Given the description of an element on the screen output the (x, y) to click on. 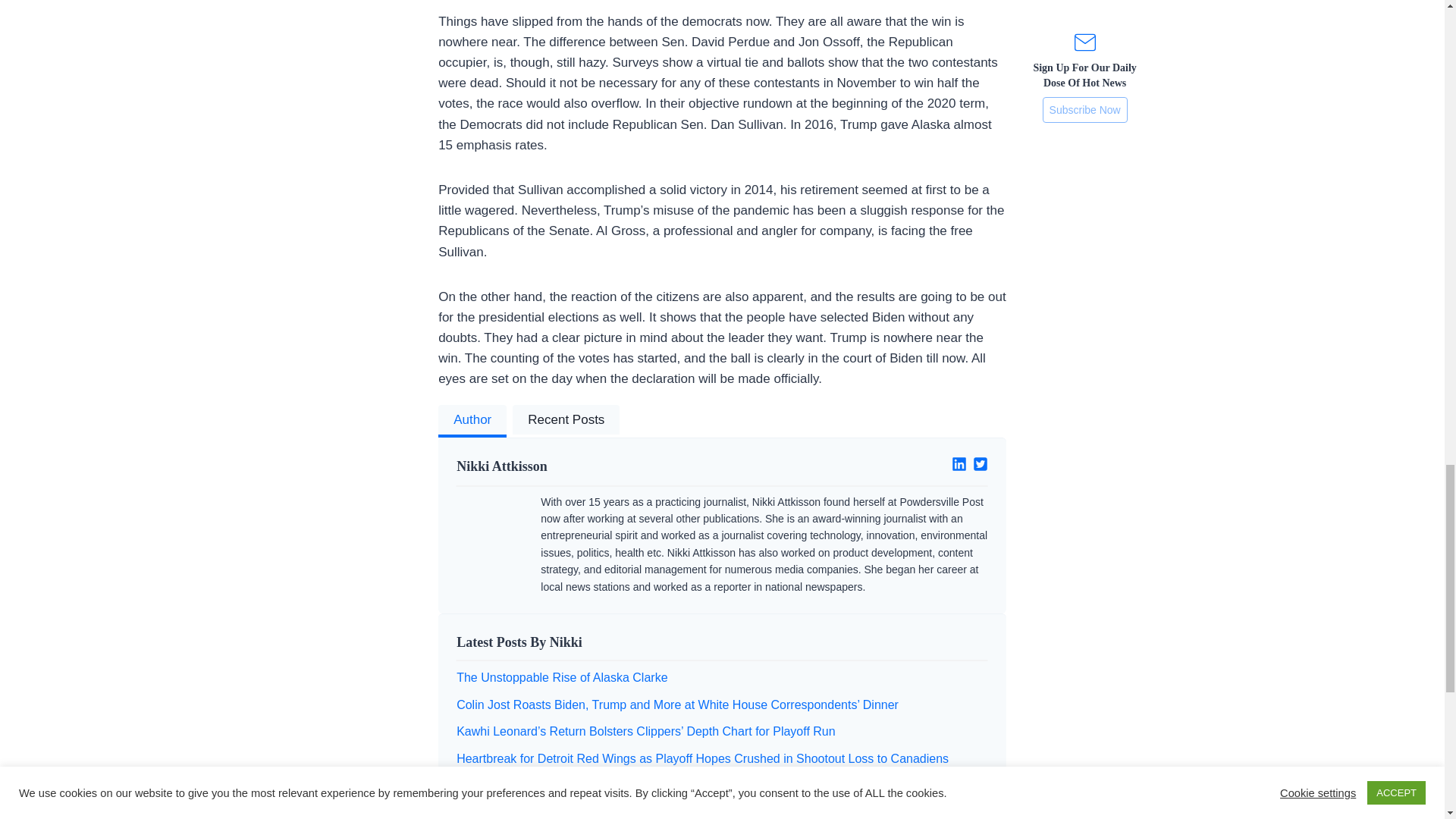
Nikki Attkisson (583, 466)
Author (472, 421)
The Unstoppable Rise of Alaska Clarke (561, 676)
Recent Posts (566, 421)
